Given the description of an element on the screen output the (x, y) to click on. 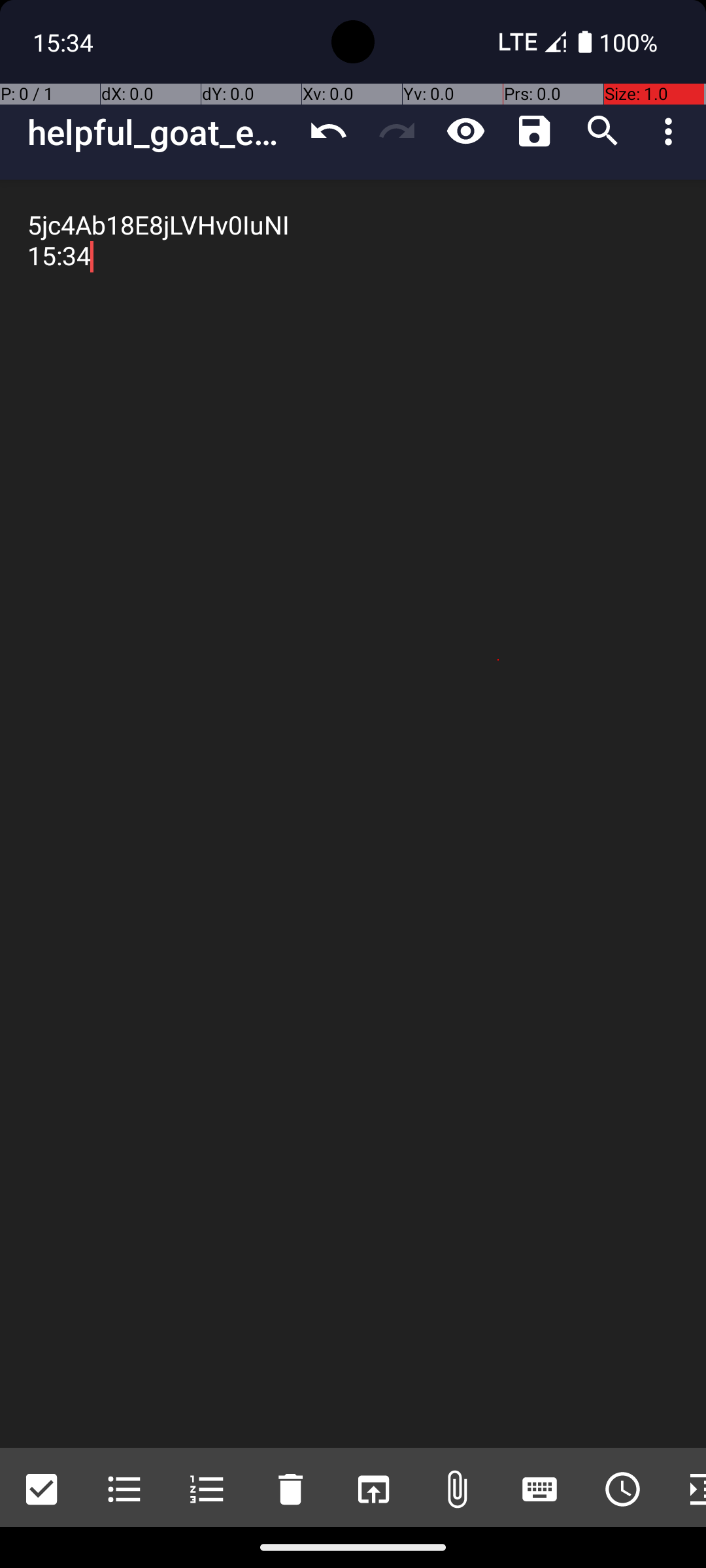
helpful_goat_edited Element type: android.widget.TextView (160, 131)
5jc4Ab18E8jLVHv0IuNI
15:34 Element type: android.widget.EditText (353, 813)
